Given the description of an element on the screen output the (x, y) to click on. 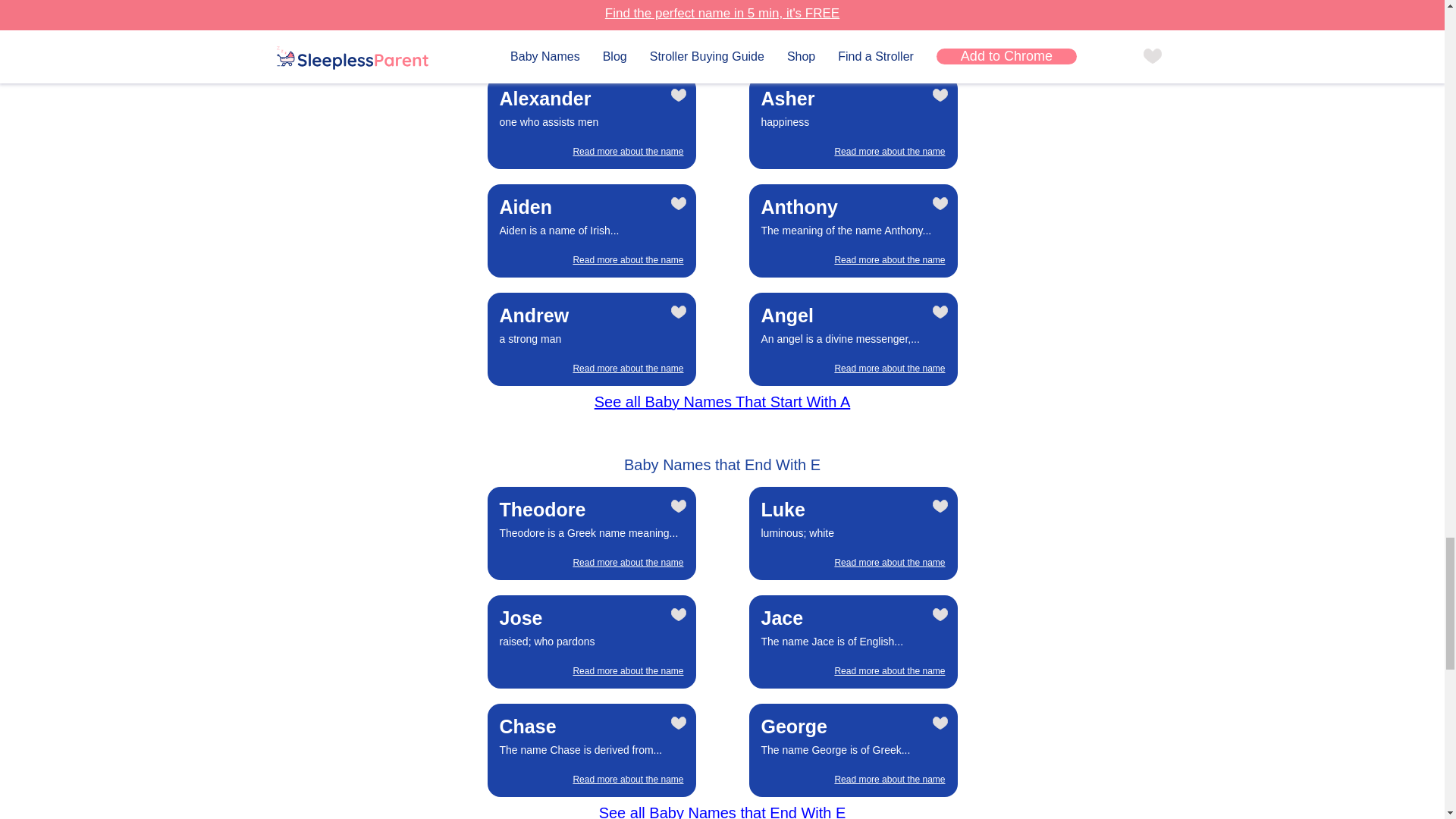
See all Baby Names That Start With A (591, 121)
